Given the description of an element on the screen output the (x, y) to click on. 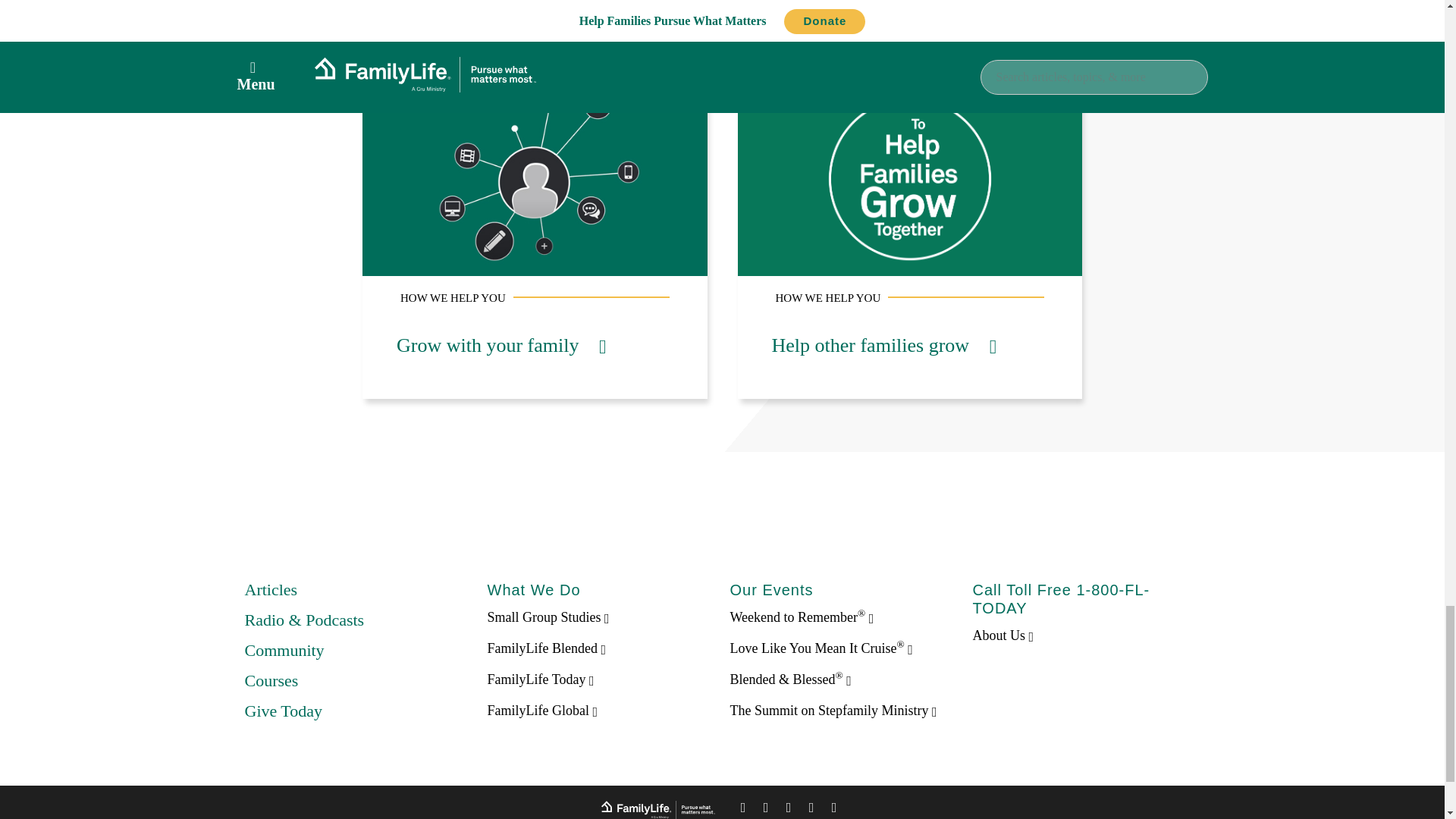
Grow with your family (500, 345)
Courses (271, 680)
Articles (270, 588)
FamilyLife Today (540, 679)
Help other families grow (884, 345)
FamilyLife Blended (545, 648)
Give Today (282, 710)
FamilyLife Global (541, 710)
Small Group Studies (547, 616)
Community (283, 650)
